Given the description of an element on the screen output the (x, y) to click on. 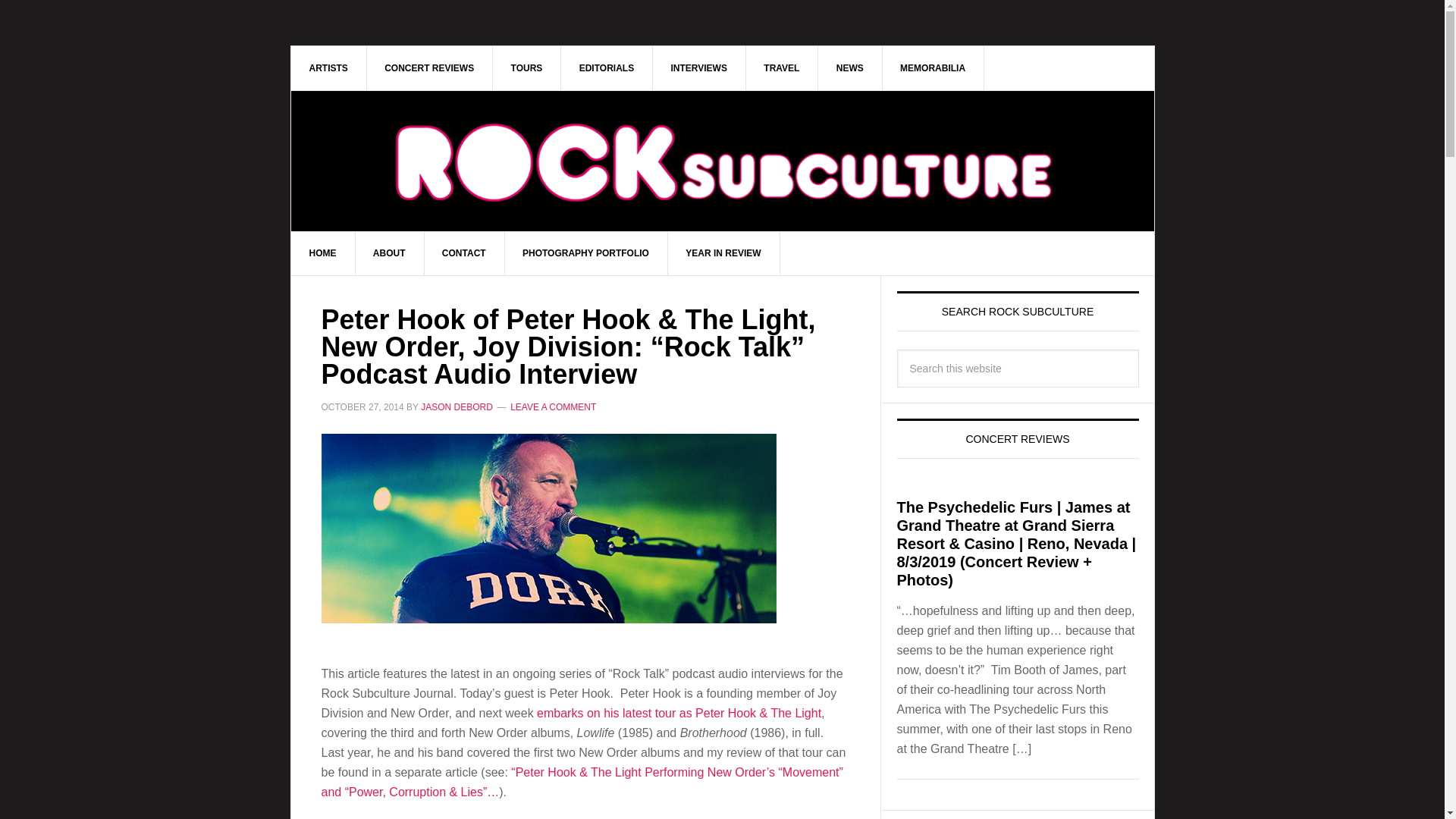
MEMORABILIA (933, 67)
EDITORIALS (606, 67)
TOURS (527, 67)
NEWS (850, 67)
INTERVIEWS (698, 67)
CONTACT (464, 252)
CONCERT REVIEWS (429, 67)
HOME (323, 252)
Jason DeBord's Rock Subculture Journal (722, 161)
LEAVE A COMMENT (553, 407)
